Given the description of an element on the screen output the (x, y) to click on. 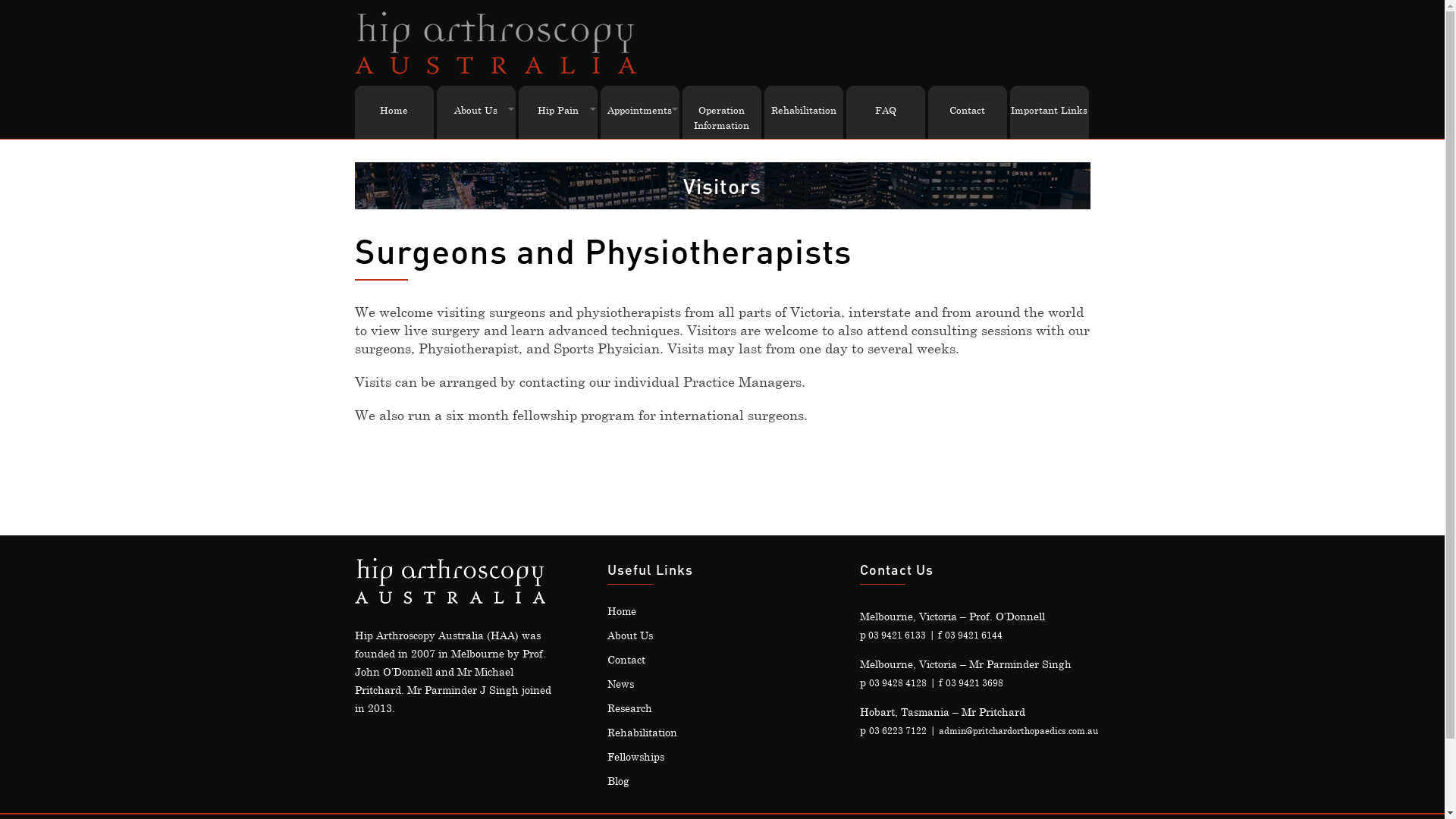
Home Element type: text (621, 610)
03 9421 3698 Element type: text (974, 682)
Hip Pain Element type: text (557, 109)
Home Element type: text (393, 109)
Rehabilitation Element type: text (803, 109)
FAQ Element type: text (885, 109)
Operation Information Element type: text (721, 117)
Contact Element type: text (626, 658)
Contact Element type: text (967, 109)
Blog Element type: text (618, 780)
Appointments Element type: text (639, 109)
03 9428 4128 Element type: text (897, 682)
About Us Element type: text (629, 634)
Important Links Element type: text (1049, 109)
News Element type: text (620, 683)
03 9421 6133 Element type: text (895, 634)
Research Element type: text (629, 707)
03 9421 6144 Element type: text (973, 634)
Fellowships Element type: text (635, 755)
03 6223 7122 Element type: text (897, 730)
Rehabilitation Element type: text (642, 731)
admin@pritchardorthopaedics.com.au Element type: text (1018, 730)
About Us Element type: text (475, 109)
